Given the description of an element on the screen output the (x, y) to click on. 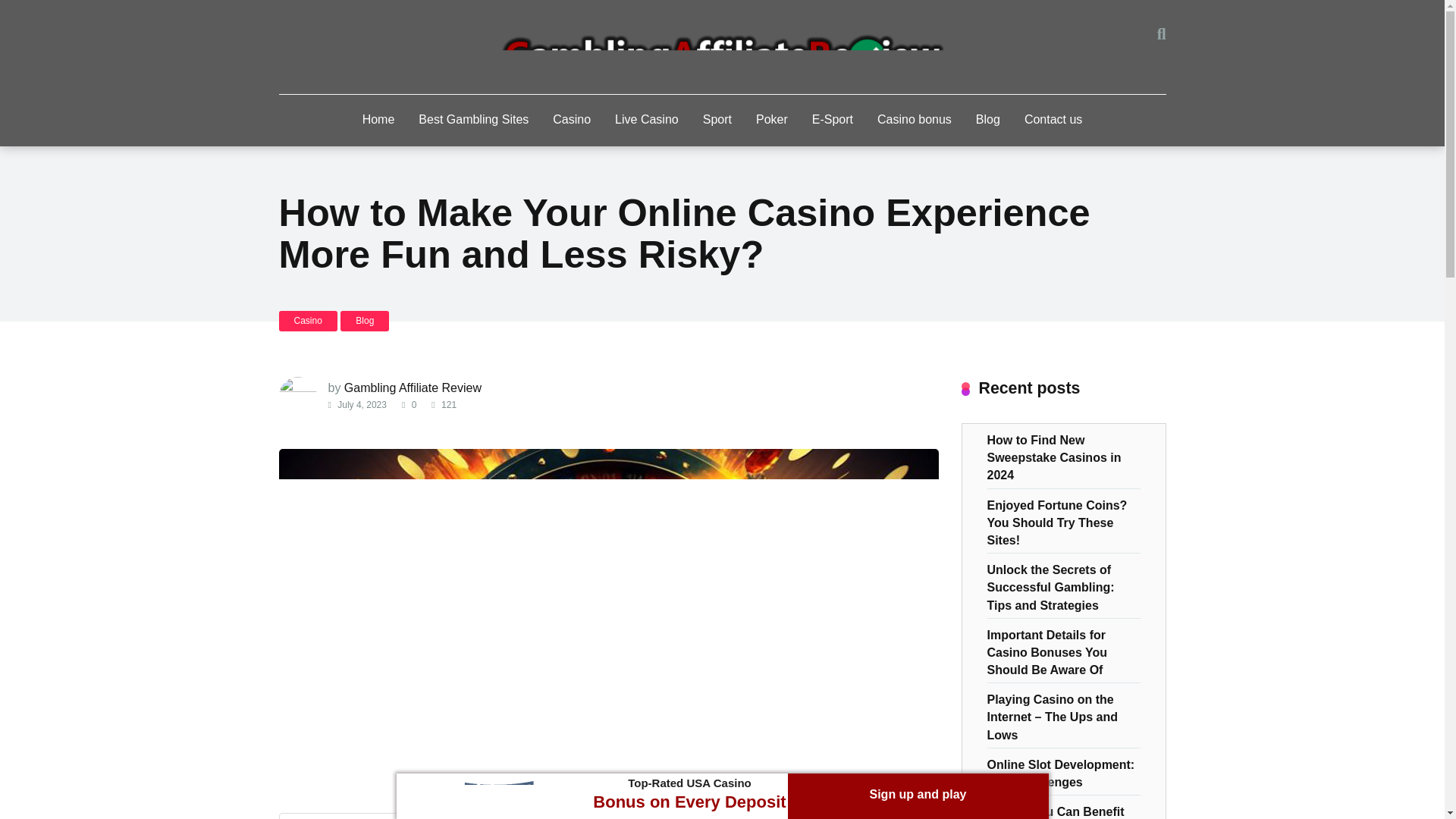
Important Details for Casino Bonuses You Should Be Aware Of (1047, 651)
5 Ways You Can Benefit From Forex Affiliate Programs (1055, 809)
Casino bonus (913, 120)
Live Casino (646, 120)
Gambling Affiliate Review (412, 387)
Online Slot Development: Main Challenges (1061, 772)
Home (378, 120)
Casino (308, 321)
Sport (717, 120)
Posts by Gambling Affiliate Review (412, 387)
Enjoyed Fortune Coins? You Should Try These Sites! (1056, 521)
Best Gambling Sites (473, 120)
TOP-RATED USA CASINO - BONUS ON EVERY DEPOSIT (493, 797)
Poker (771, 120)
